Given the description of an element on the screen output the (x, y) to click on. 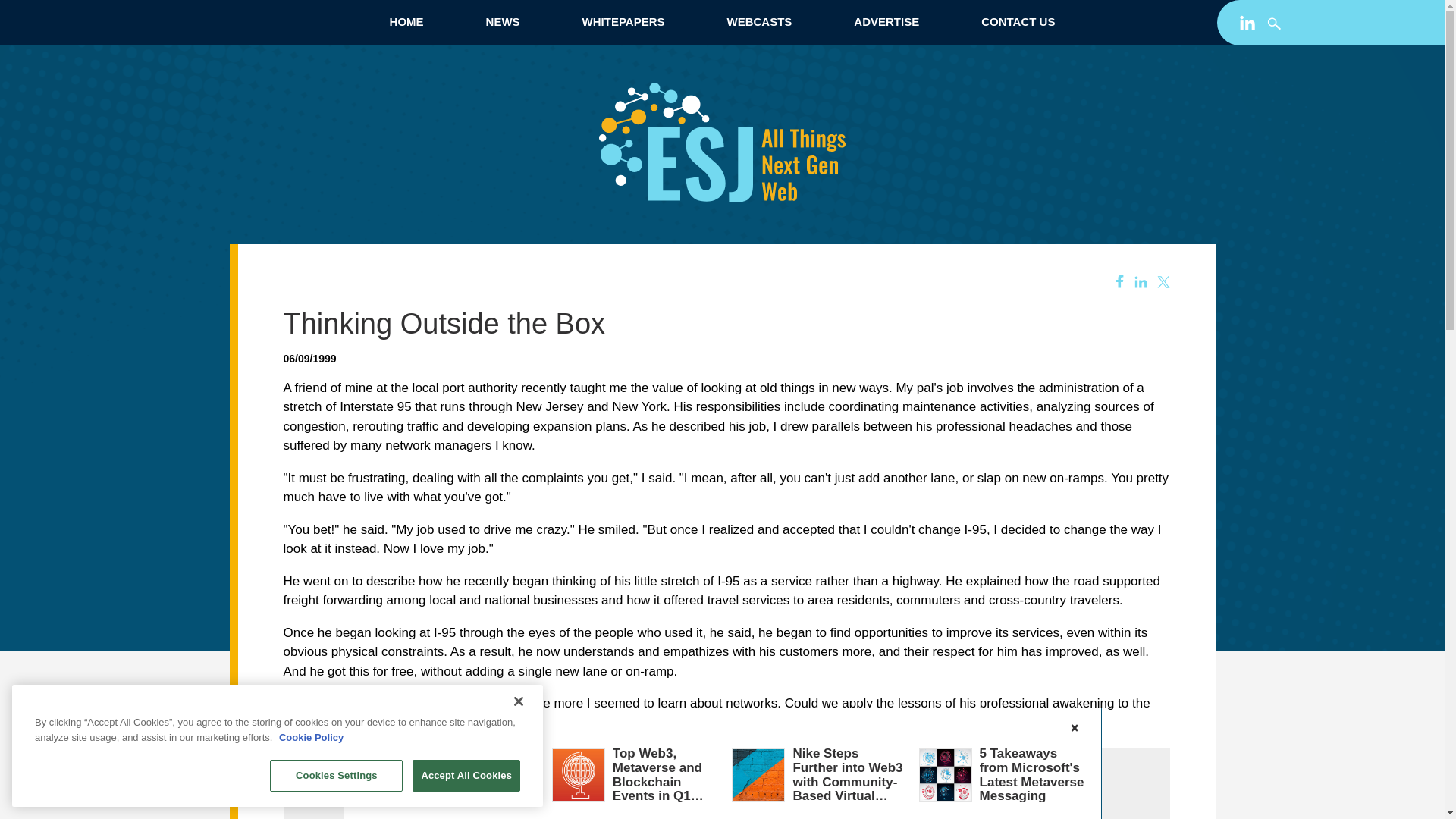
WHITEPAPERS (622, 21)
3rd party ad content (726, 794)
WEBCASTS (758, 21)
ADVERTISE (886, 21)
5 Takeaways from Microsoft's Latest Metaverse Messaging (1031, 774)
Top Web3, Metaverse and Blockchain Events in Q1 2023 (657, 781)
CONTACT US (1017, 21)
HOME (406, 21)
NEWS (502, 21)
